Given the description of an element on the screen output the (x, y) to click on. 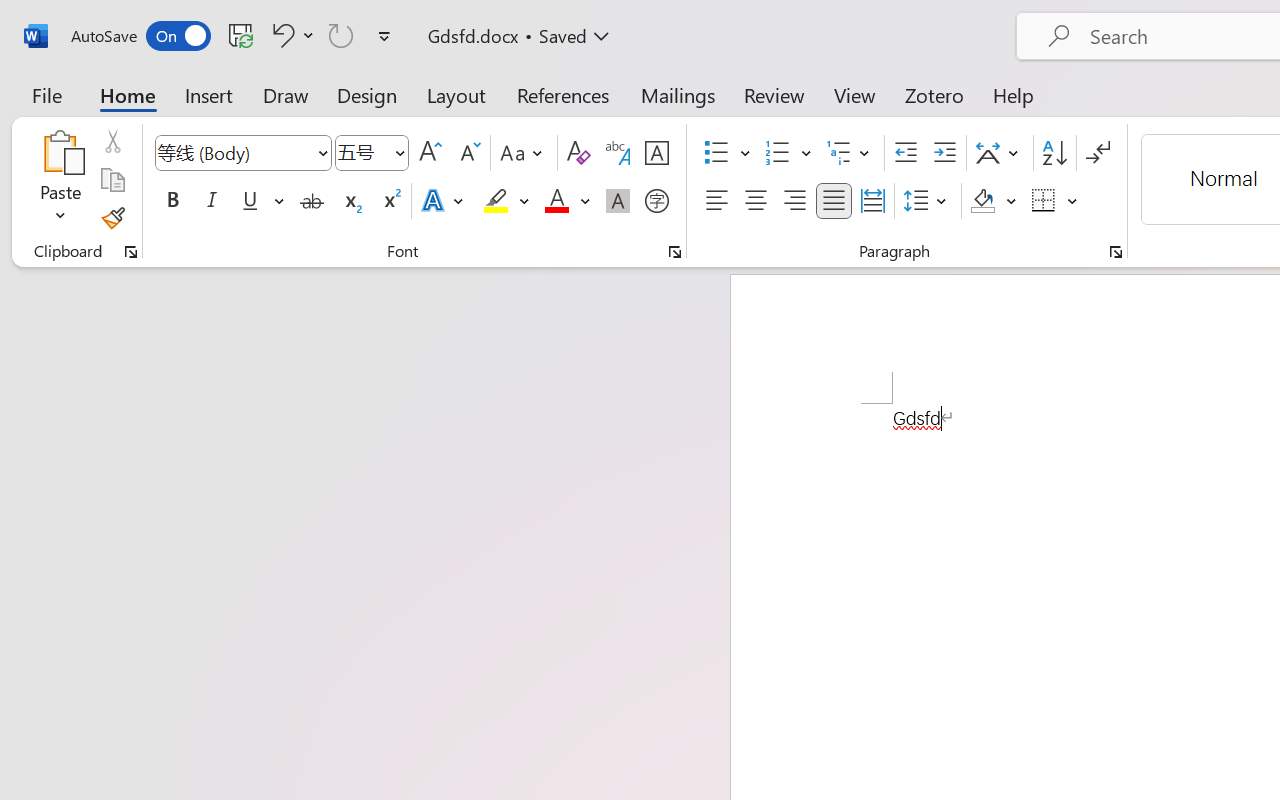
Font Color (567, 201)
Enclose Characters... (656, 201)
Format Painter (112, 218)
Character Border (656, 153)
Font... (675, 252)
Change Case (524, 153)
Copy (112, 179)
Text Effects and Typography (444, 201)
